Given the description of an element on the screen output the (x, y) to click on. 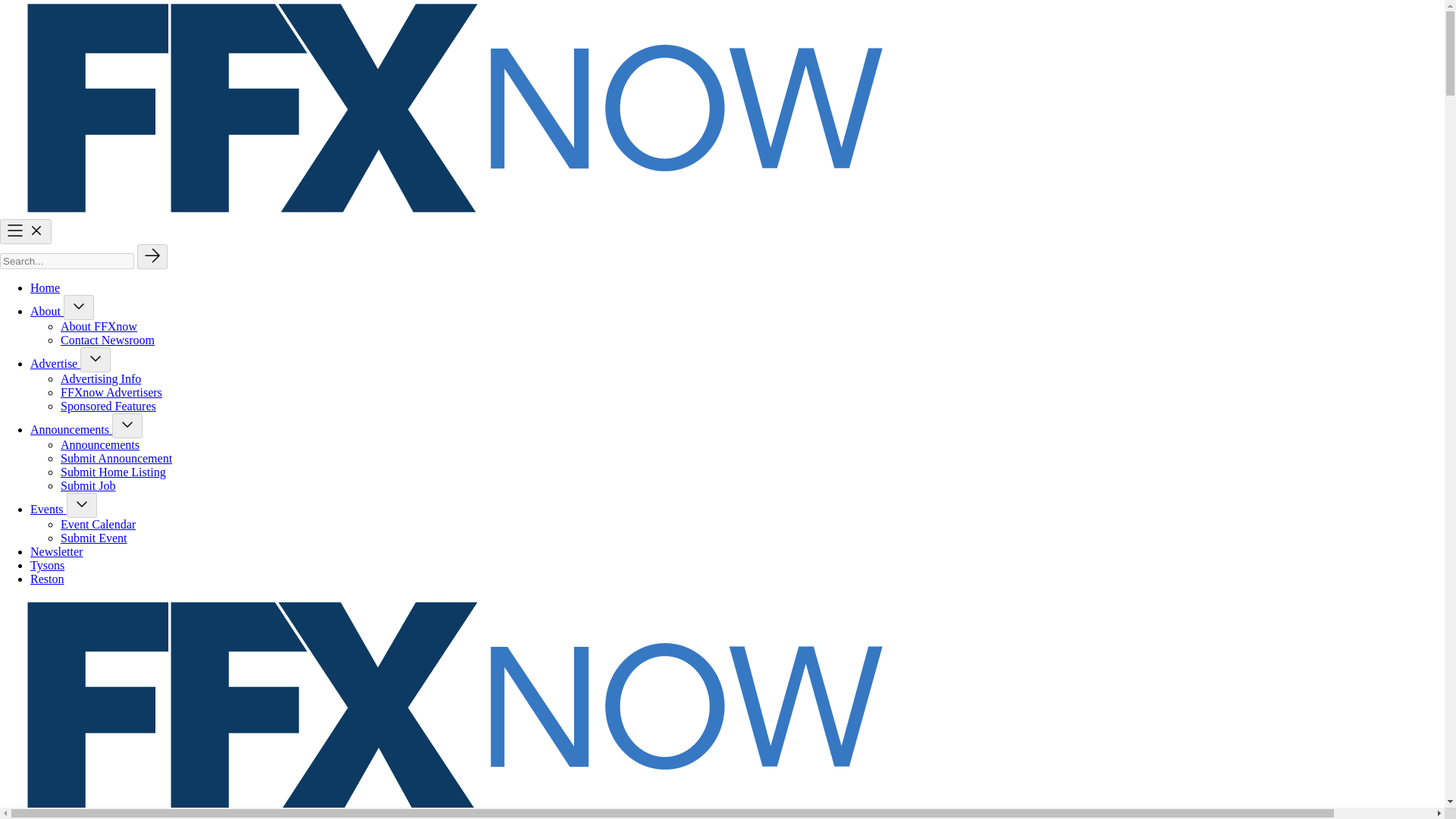
About (47, 310)
Events (48, 508)
Submit Job (88, 485)
Reston (47, 578)
Sponsored Features (108, 405)
Submit Home Listing (113, 472)
Announcements (71, 429)
FFXnow Advertisers (111, 391)
About FFXnow (98, 326)
Home (44, 287)
Submit Announcement (116, 458)
Submit Event (94, 537)
Announcements (100, 444)
Event Calendar (98, 523)
Advertising Info (101, 378)
